Given the description of an element on the screen output the (x, y) to click on. 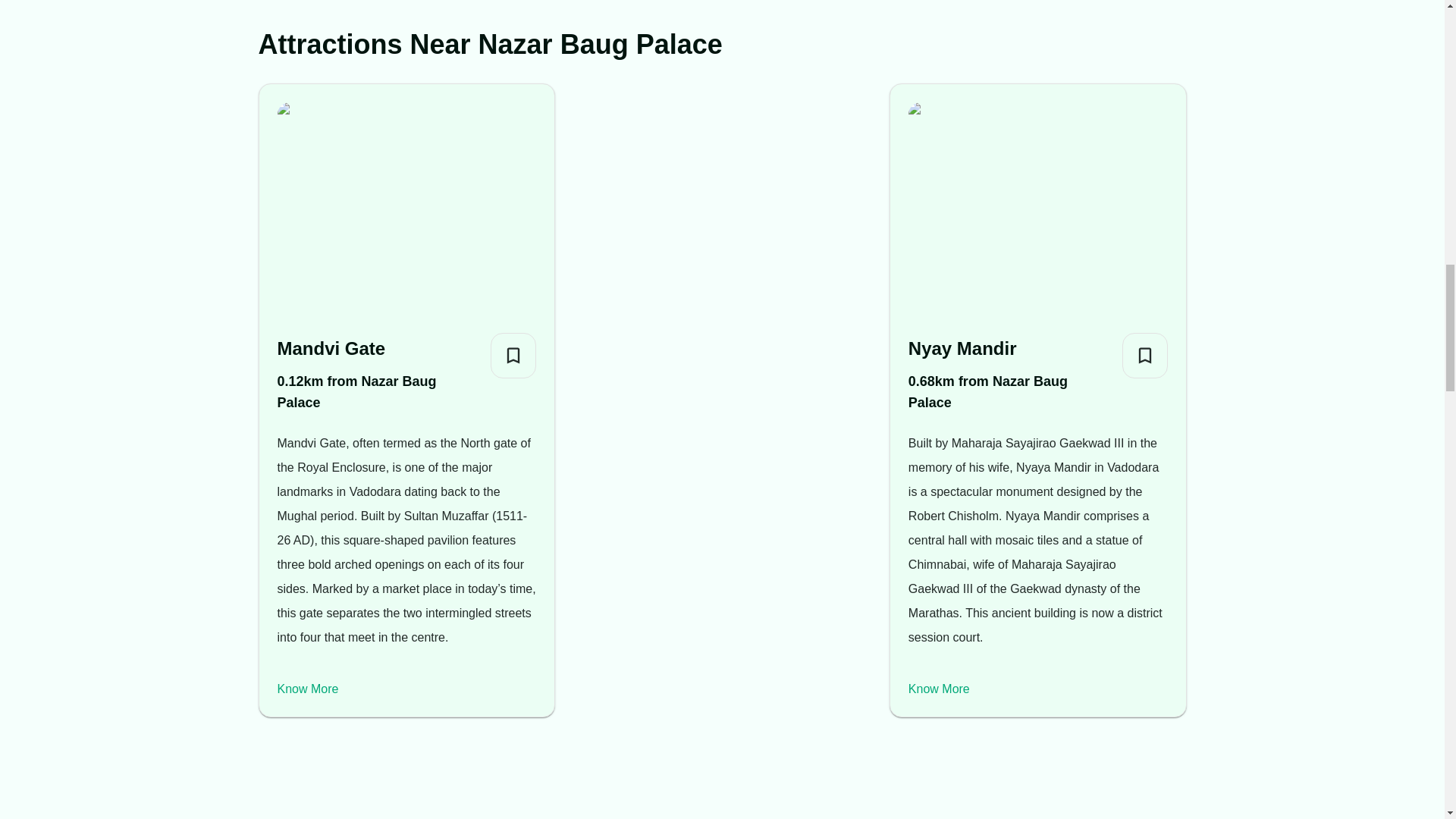
Know More (308, 688)
Nyay Mandir (1008, 348)
Mandvi Gate (378, 348)
Add to Bucket List (512, 355)
Add to Bucket List (1144, 355)
Know More (938, 688)
